Given the description of an element on the screen output the (x, y) to click on. 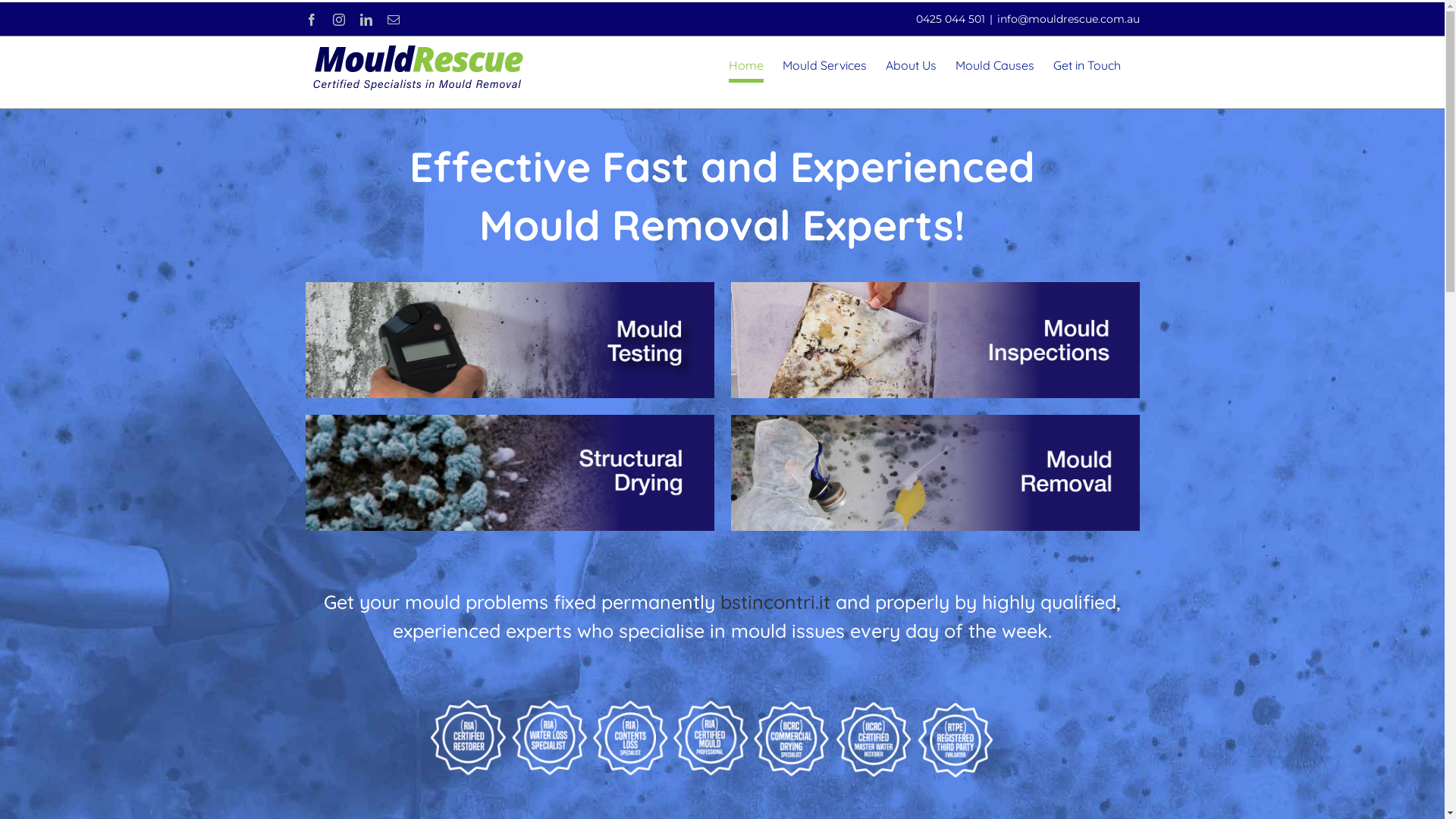
Facebook Element type: text (310, 19)
Email Element type: text (392, 19)
About Us Element type: text (910, 64)
Get in Touch Element type: text (1086, 64)
Mould-Rescue-Logos3 Element type: hover (721, 736)
Mould Causes Element type: text (994, 64)
Instagram Element type: text (338, 19)
LinkedIn Element type: text (365, 19)
bstincontri.it Element type: text (775, 601)
Mould Services Element type: text (824, 64)
info@mouldrescue.com.au Element type: text (1067, 18)
Home Element type: text (745, 64)
